Given the description of an element on the screen output the (x, y) to click on. 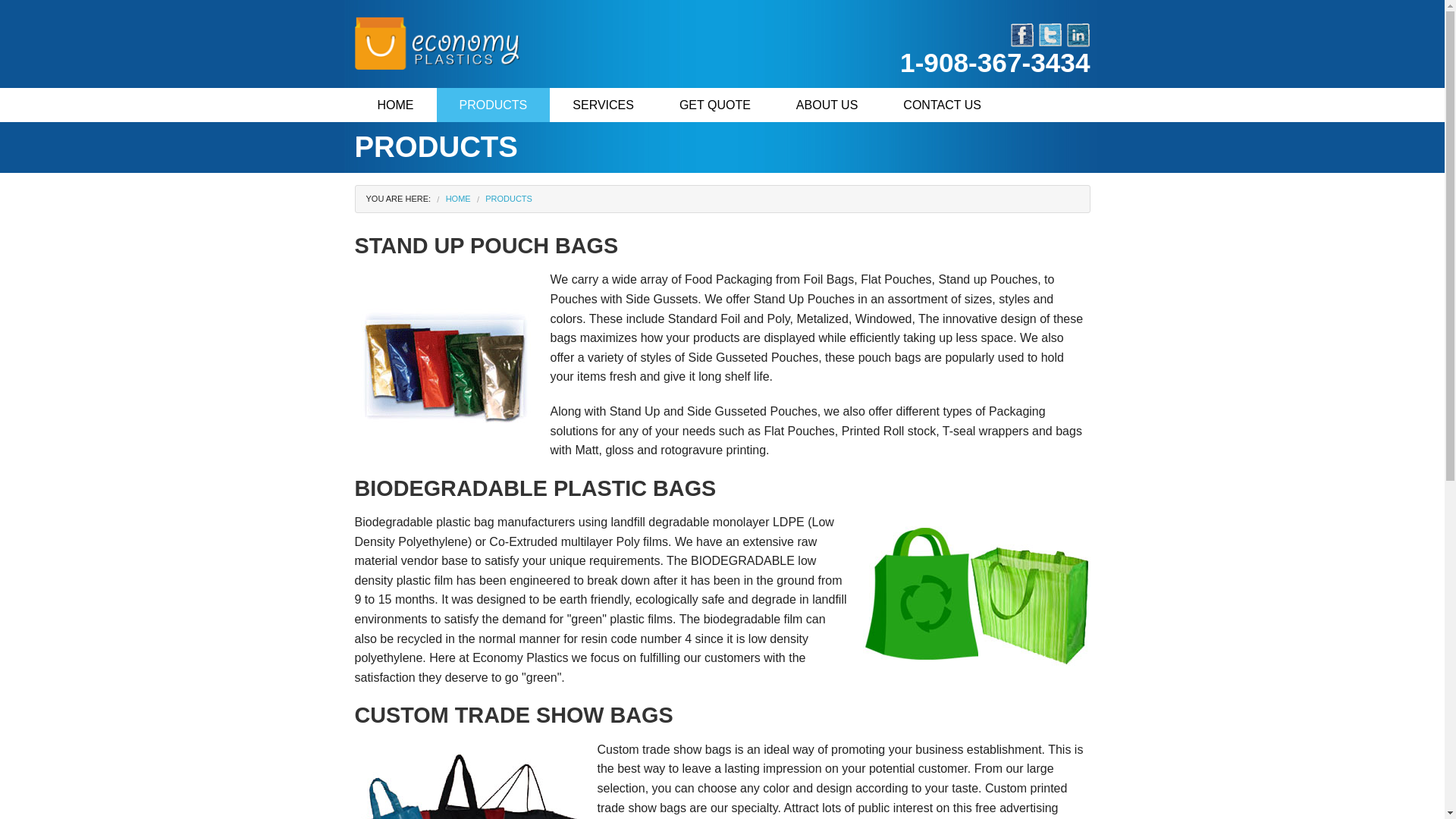
GET QUOTE (714, 104)
Visit Us On Facebook (1021, 33)
HOME (457, 198)
HOME (395, 104)
CONTACT US (942, 104)
PRODUCTS (508, 198)
SERVICES (603, 104)
PRODUCTS (493, 104)
Visit Us On Linkedin (1077, 33)
ABOUT US (826, 104)
Visit Us On Twitter (1050, 33)
